Given the description of an element on the screen output the (x, y) to click on. 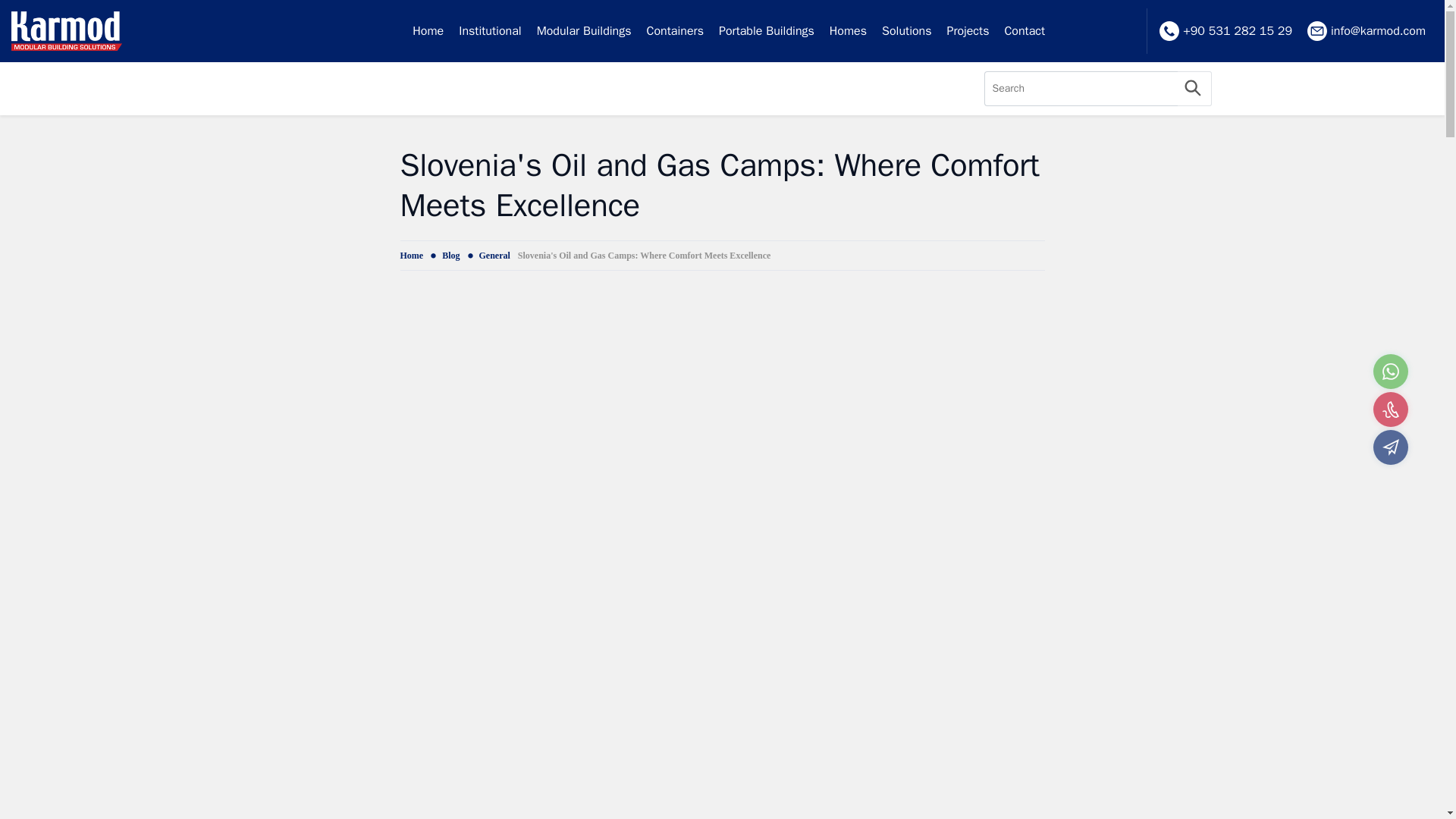
Institutional (489, 31)
Containers (675, 31)
Whatsapp (1390, 371)
Email (1390, 447)
Call Us (1390, 409)
Portable Buildings (766, 31)
Modular Buildings (584, 31)
